Given the description of an element on the screen output the (x, y) to click on. 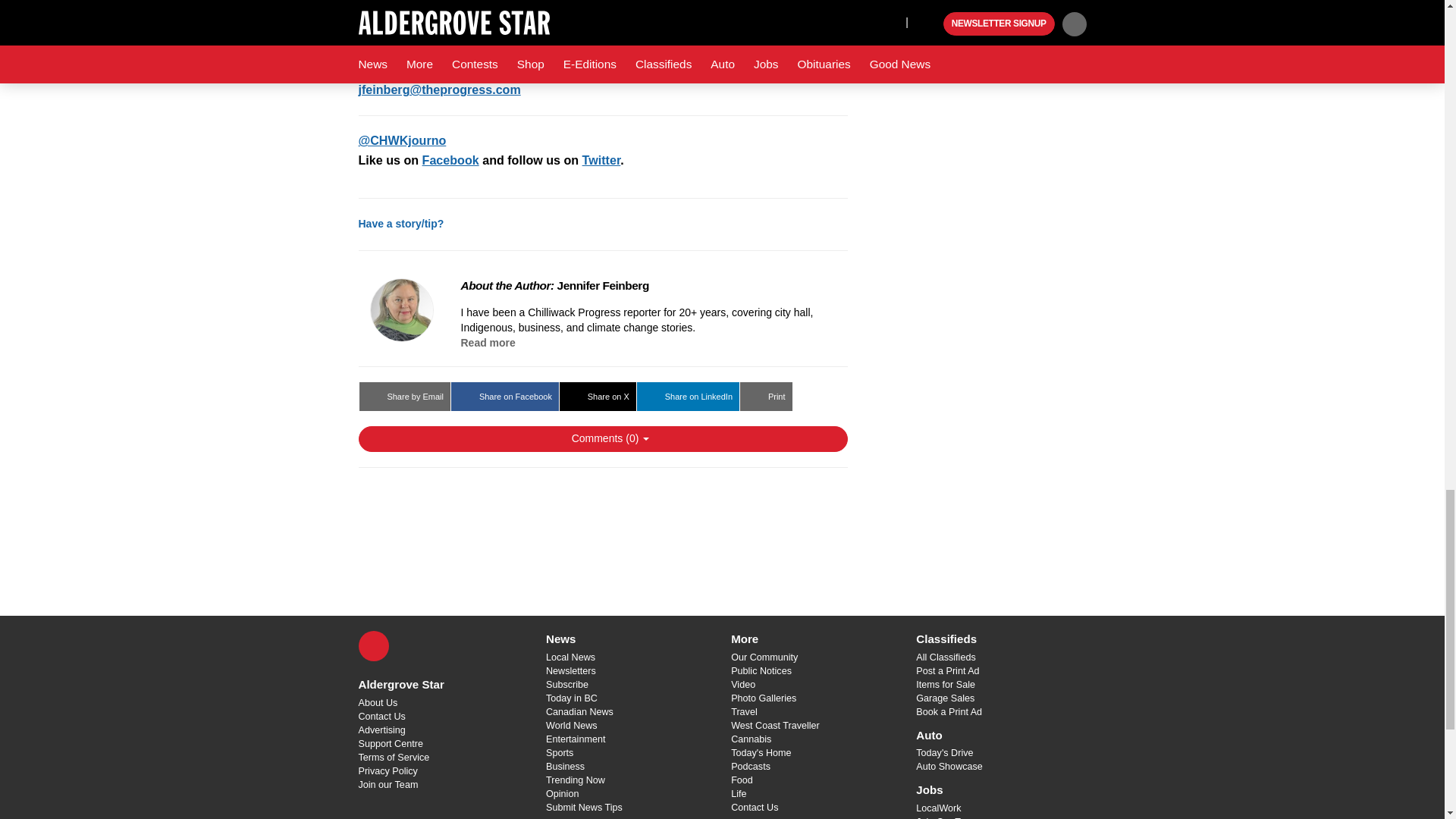
X (373, 645)
Show Comments (602, 438)
